Given the description of an element on the screen output the (x, y) to click on. 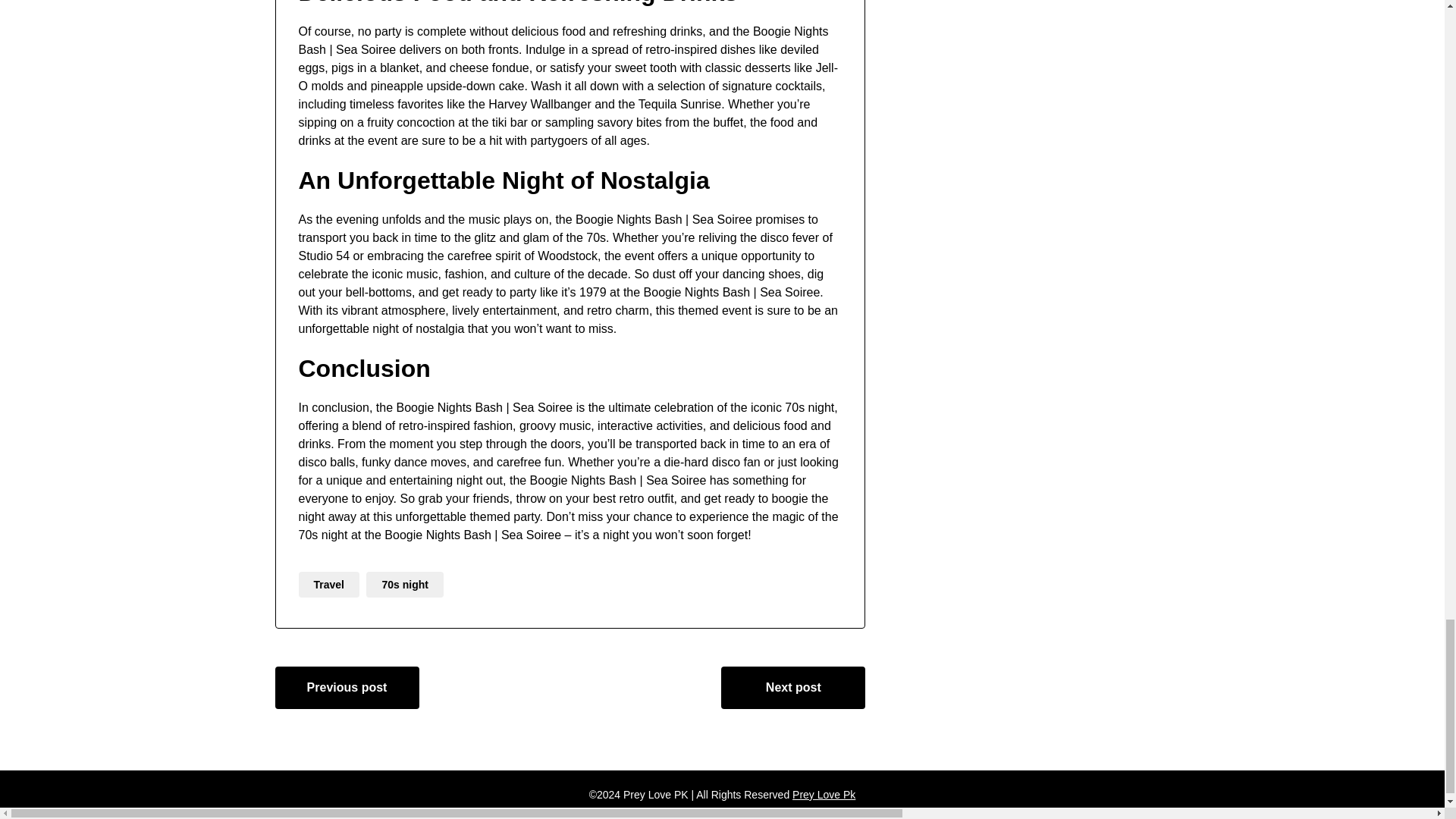
Next post (792, 687)
Previous post (347, 687)
Travel (328, 584)
70s night (404, 584)
